Given the description of an element on the screen output the (x, y) to click on. 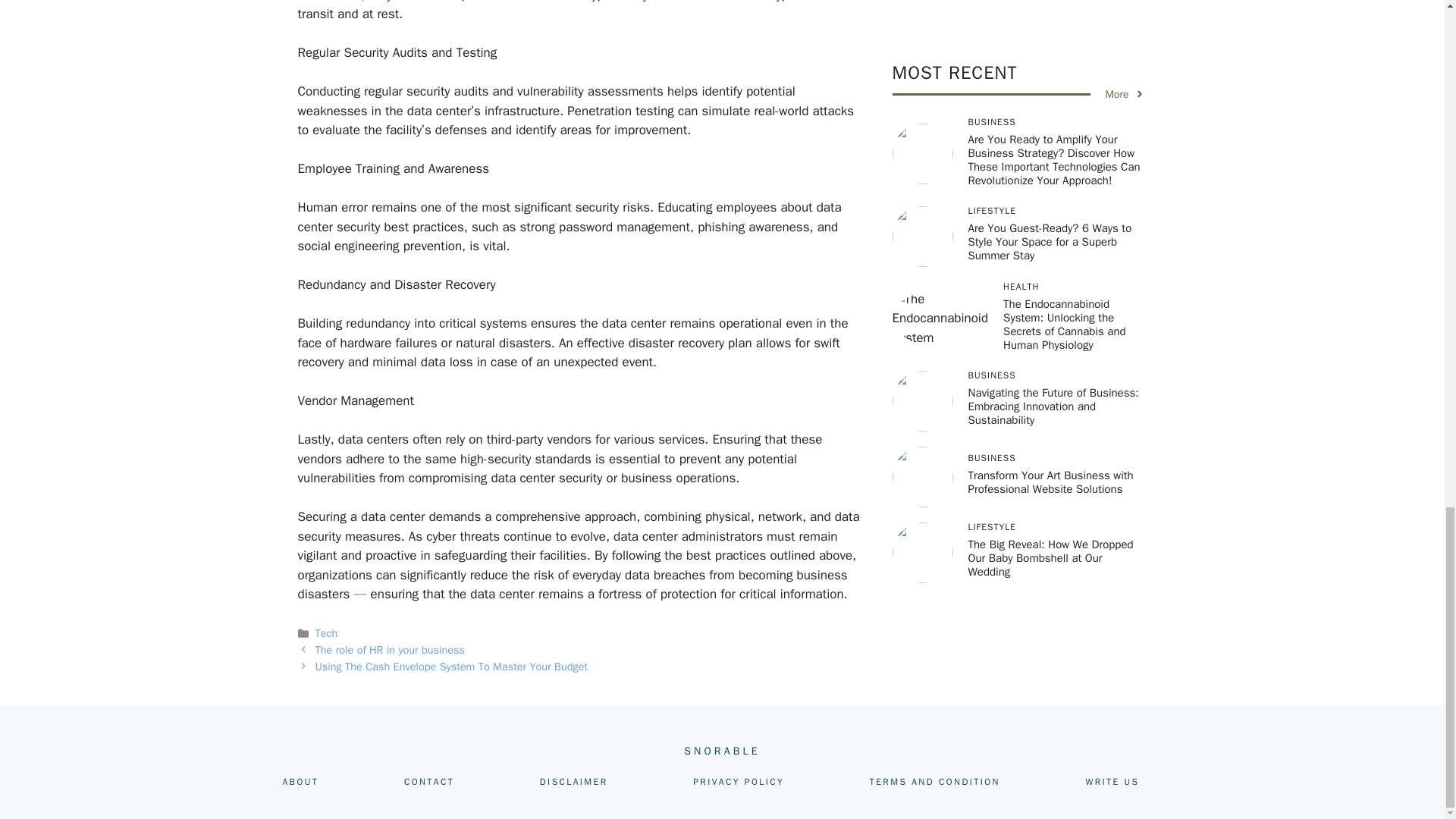
SNORABLE (722, 750)
WRITE US (1111, 781)
TERMS AND CONDITION (934, 781)
ABOUT (300, 781)
Using The Cash Envelope System To Master Your Budget (451, 666)
CONTACT (429, 781)
Tech (326, 632)
PRIVACY POLICY (738, 781)
DISCLAIMER (574, 781)
The role of HR in your business (390, 649)
